Given the description of an element on the screen output the (x, y) to click on. 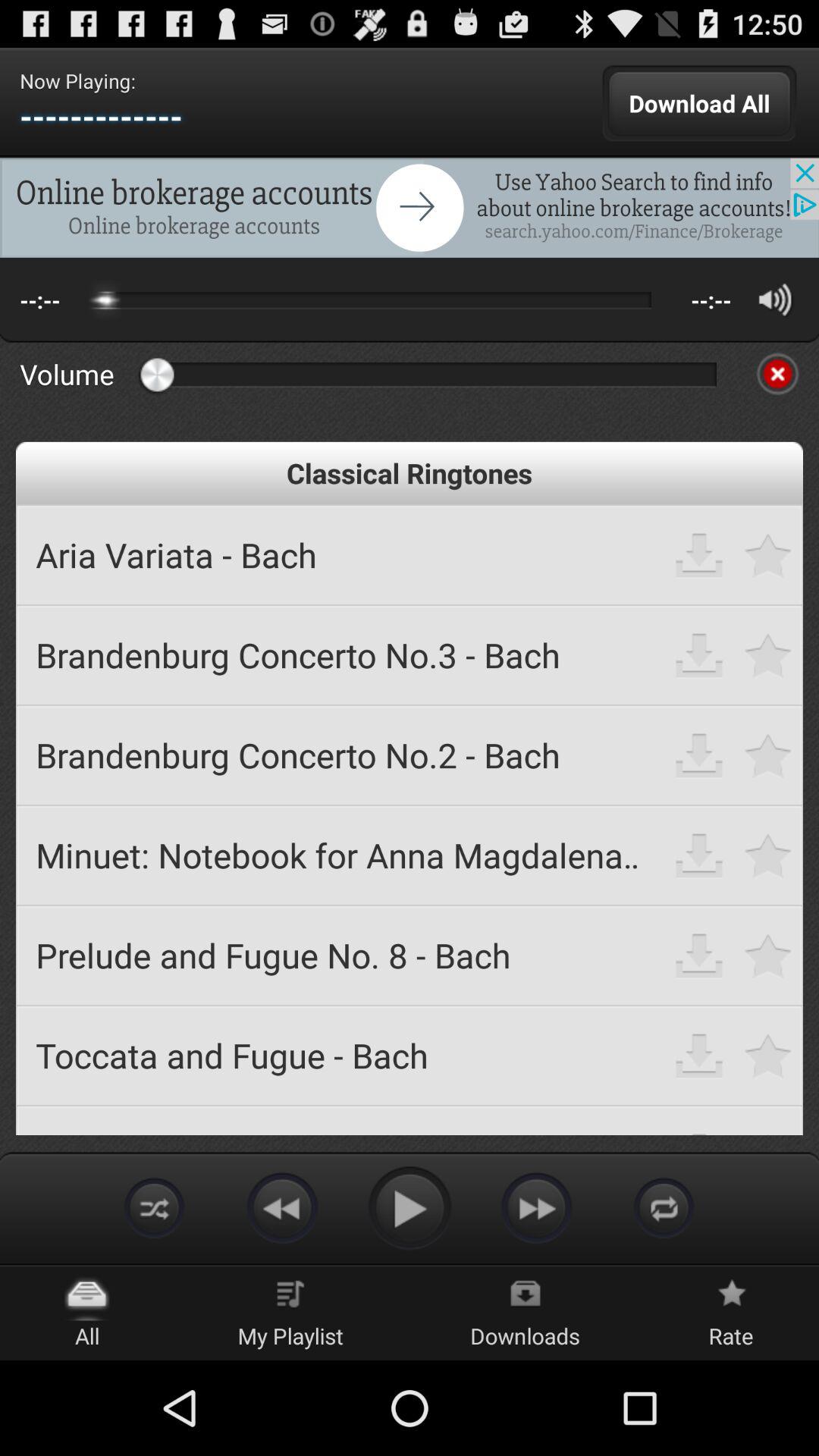
repeat (664, 1207)
